Given the description of an element on the screen output the (x, y) to click on. 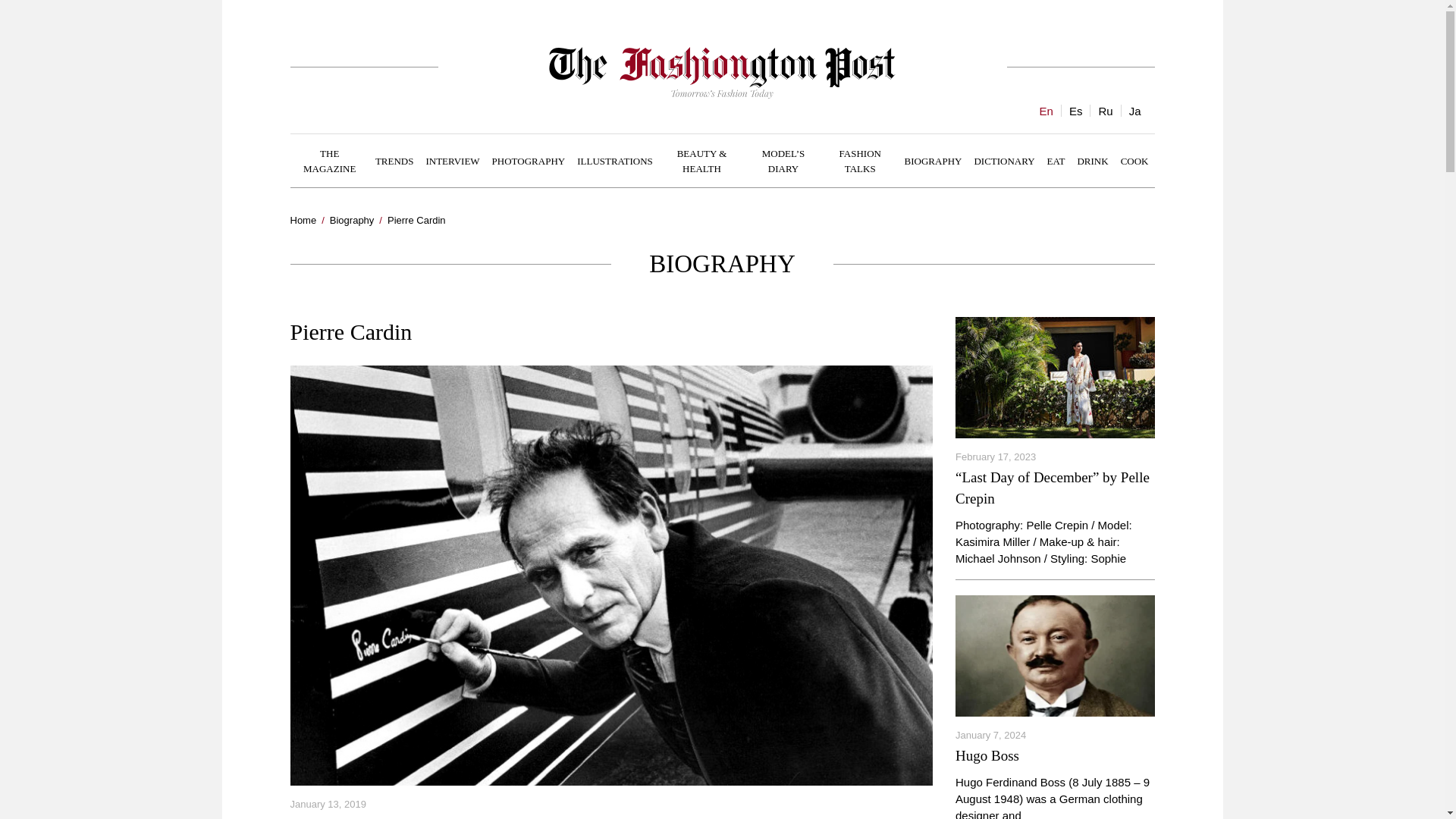
Ru (1104, 110)
DRINK (1091, 160)
FASHION TALKS (860, 160)
INTERVIEW (451, 160)
En (1046, 110)
COOK (1134, 160)
Es (1075, 110)
DICTIONARY (1004, 160)
Ja (1134, 110)
ILLUSTRATIONS (614, 160)
THE MAGAZINE (328, 160)
BIOGRAPHY (933, 160)
PHOTOGRAPHY (529, 160)
Home (302, 220)
Biography (352, 220)
